Given the description of an element on the screen output the (x, y) to click on. 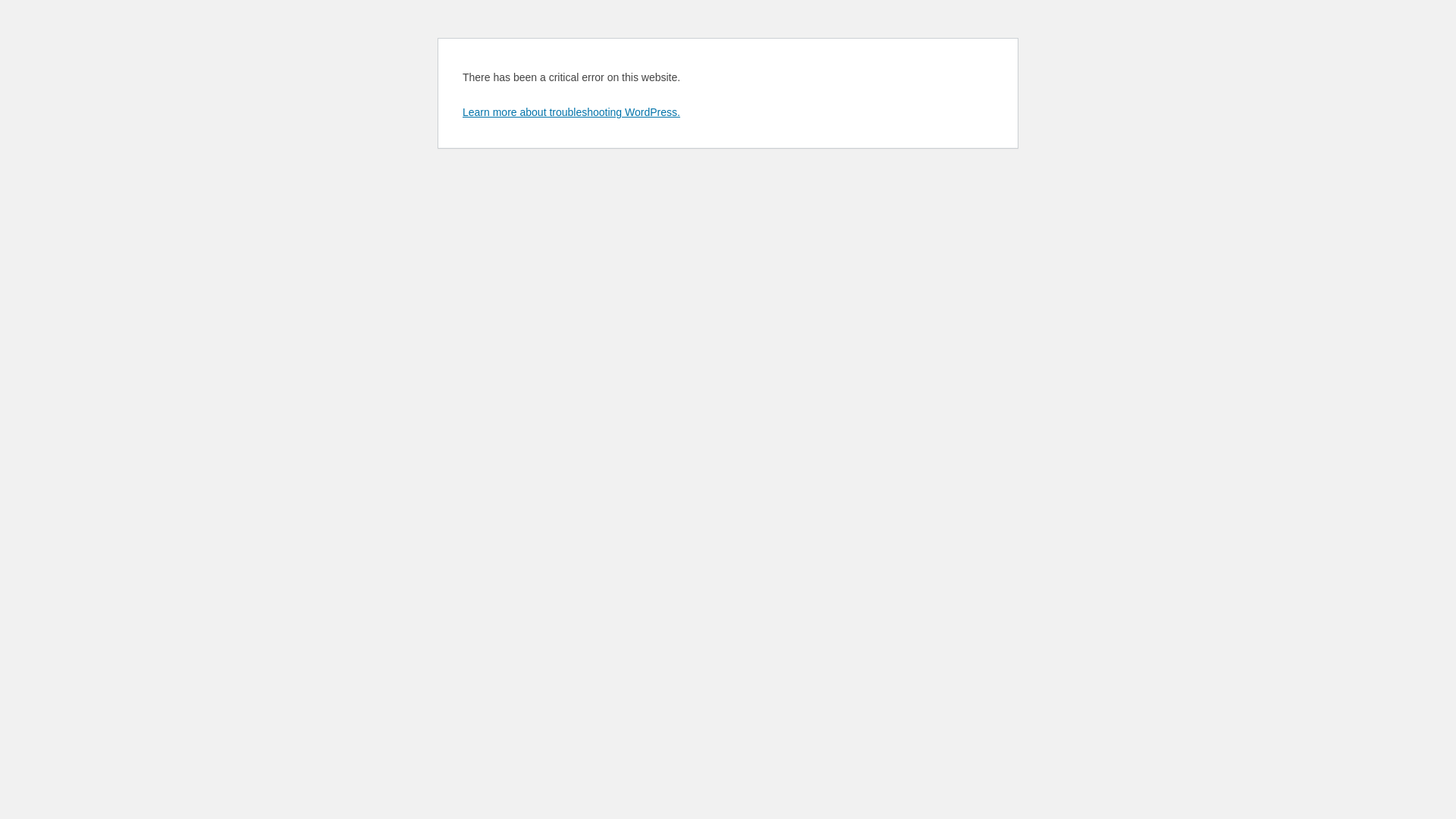
Learn more about troubleshooting WordPress. Element type: text (571, 112)
